Given the description of an element on the screen output the (x, y) to click on. 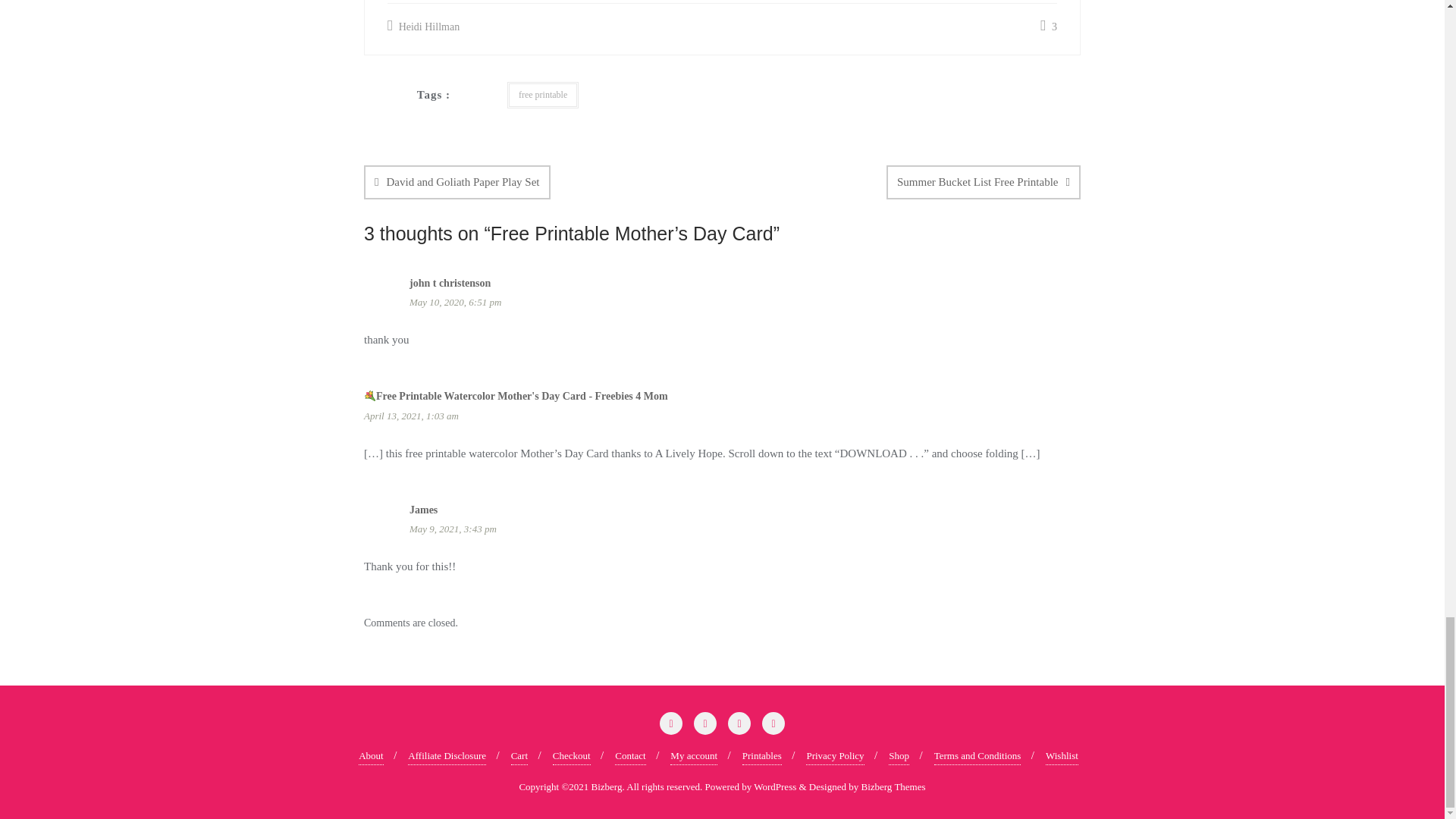
May 9, 2021, 3:43 pm (744, 528)
free printable (542, 94)
Heidi Hillman (423, 26)
April 13, 2021, 1:03 am (722, 415)
James (423, 509)
Free Printable Watercolor Mother's Day Card - Freebies 4 Mom (516, 396)
May 10, 2020, 6:51 pm (744, 302)
john t christenson (449, 283)
Summer Bucket List Free Printable (983, 182)
David and Goliath Paper Play Set (457, 182)
